Given the description of an element on the screen output the (x, y) to click on. 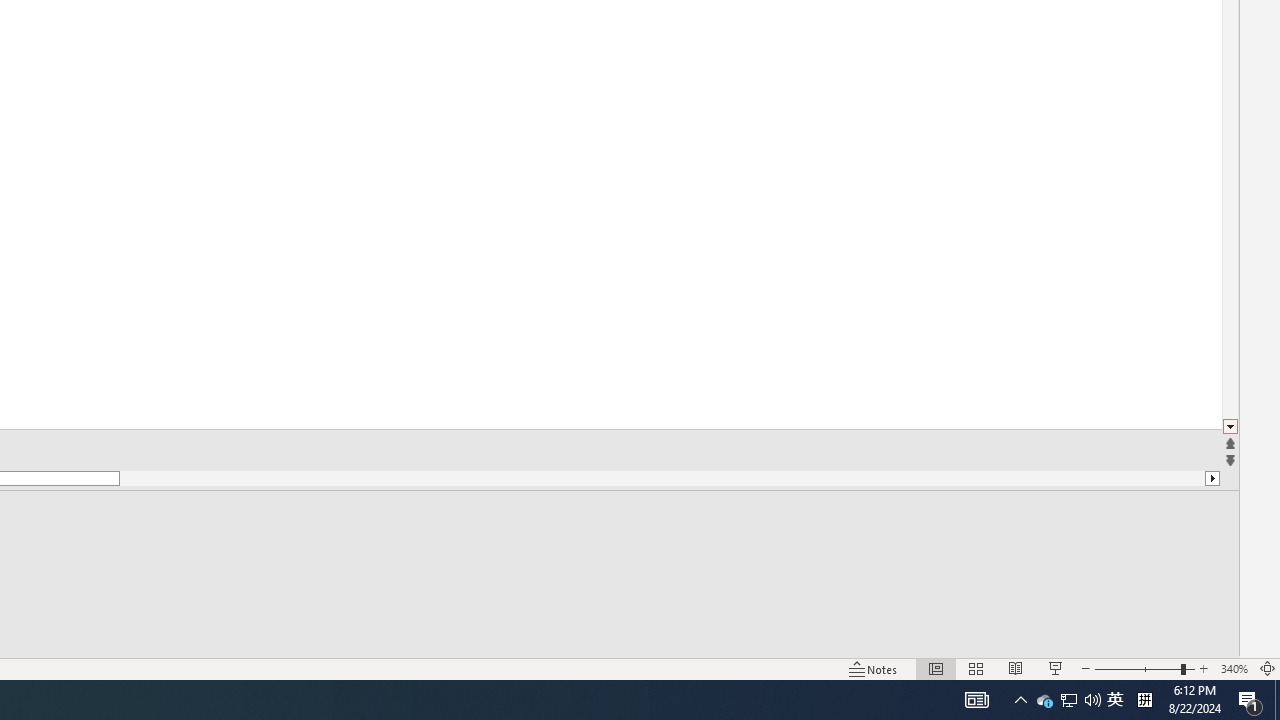
Zoom 340% (1234, 668)
